Given the description of an element on the screen output the (x, y) to click on. 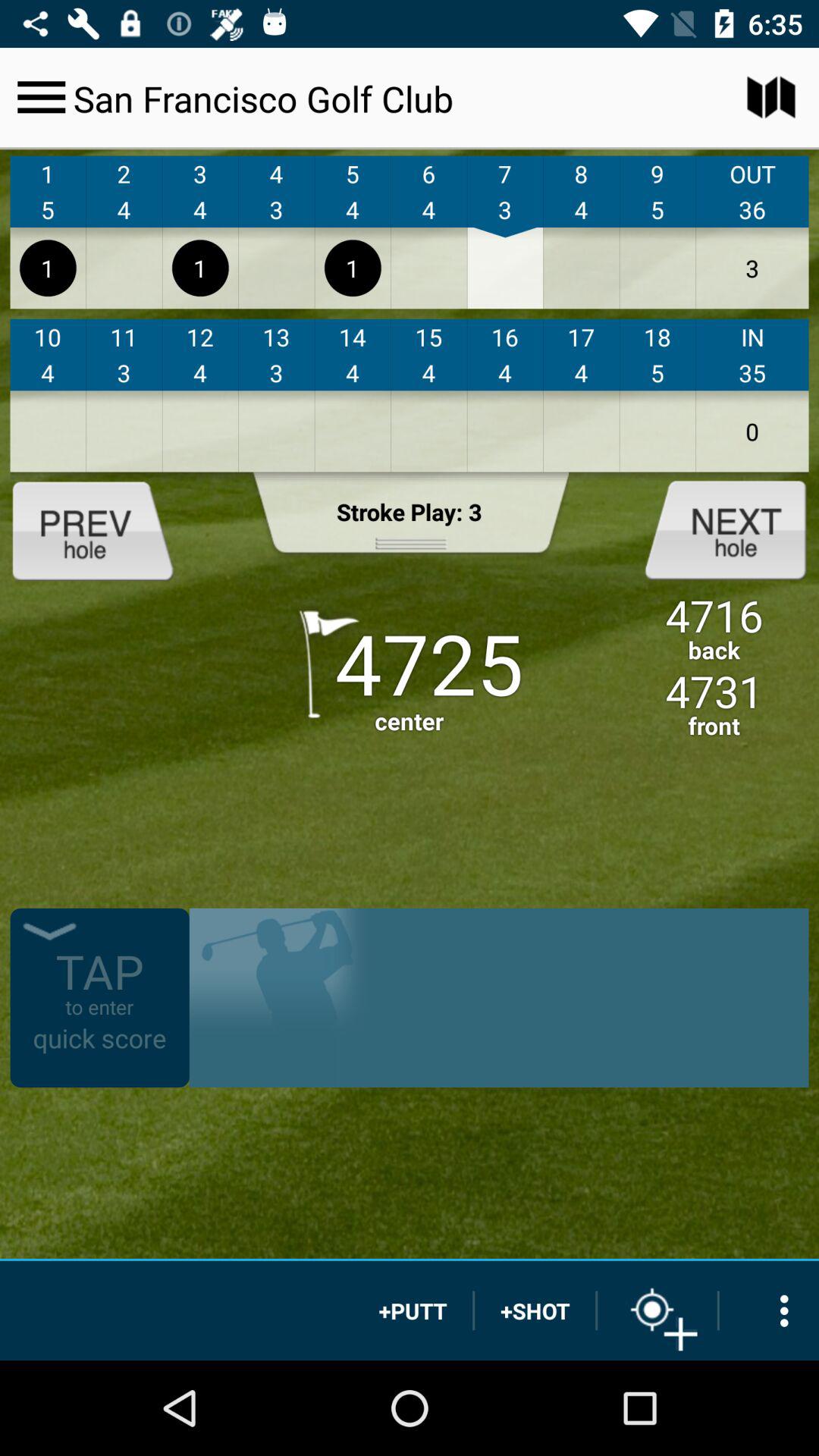
open menu (41, 97)
